Given the description of an element on the screen output the (x, y) to click on. 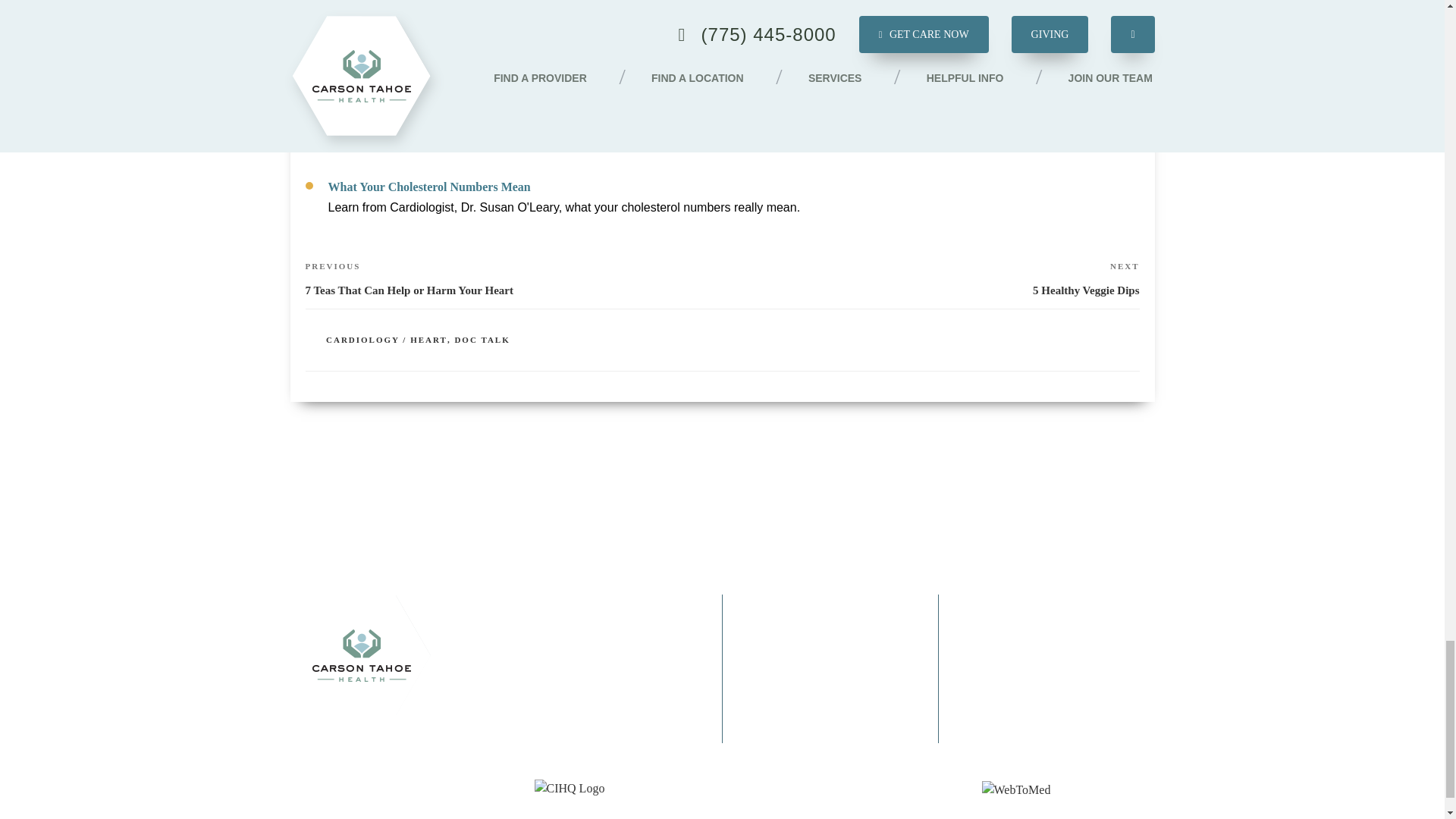
DOC TALK (481, 338)
Drink Wine and Eat Chocolate For Your Heart (448, 42)
ABOUT US (564, 626)
SERVICES (564, 647)
FIND A PROVIDER (582, 604)
Call Us! (1035, 651)
5 Great Ways to Love Your Heart and Your Life (451, 114)
What Your Cholesterol Numbers Mean (930, 278)
